Given the description of an element on the screen output the (x, y) to click on. 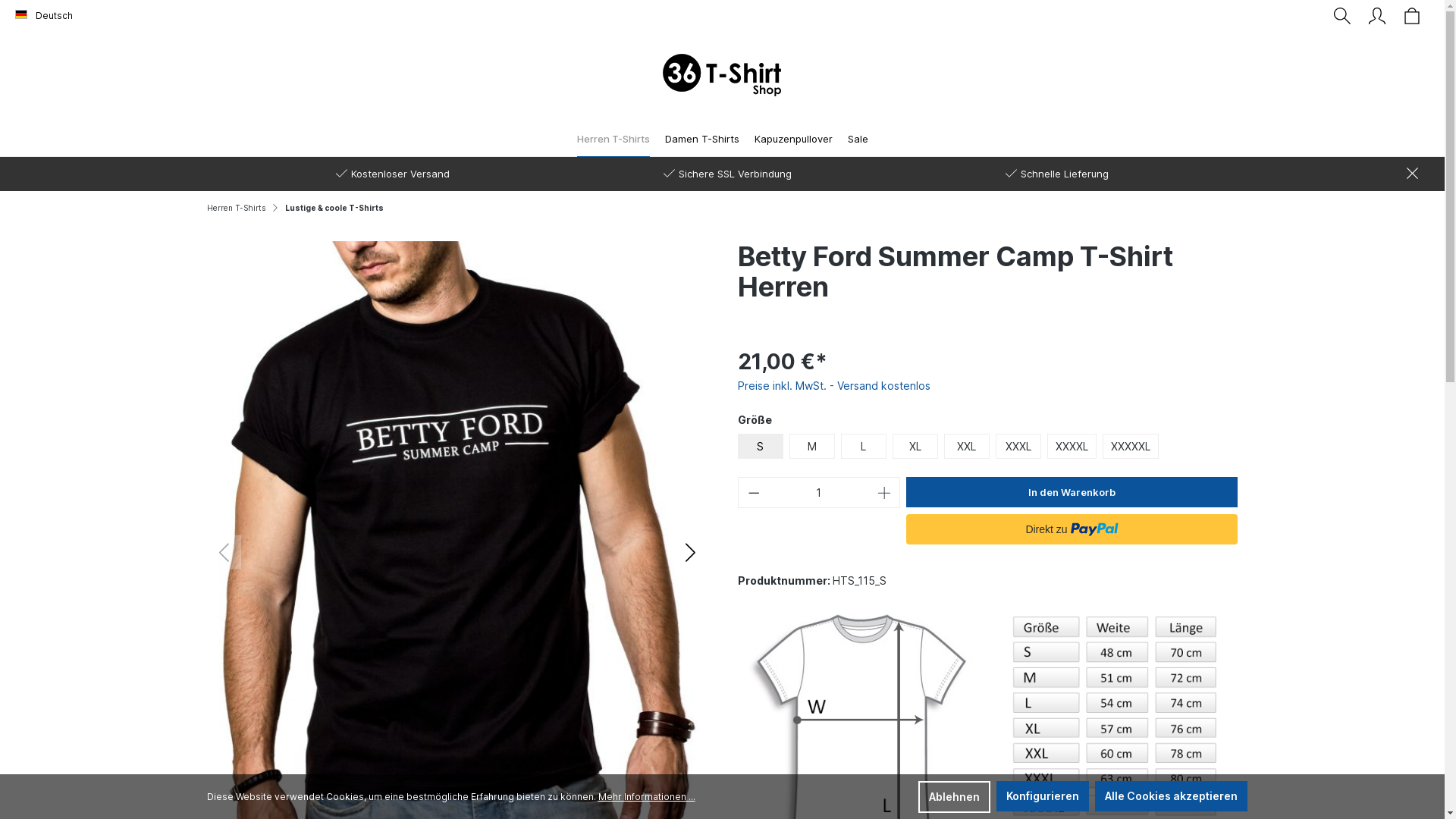
Warenkorb Element type: hover (1411, 15)
In den Warenkorb Element type: text (1071, 491)
Sale Element type: text (857, 139)
Herren T-Shirts Element type: text (612, 139)
Deutsch Element type: text (43, 15)
Herren T-Shirts Element type: text (235, 207)
Alle Cookies akzeptieren Element type: text (1171, 796)
Mehr Informationen ... Element type: text (645, 796)
Ablehnen Element type: text (953, 796)
Betty Ford Summer Camp T-Shirt Herren Element type: hover (456, 550)
Kapuzenpullover Element type: text (792, 139)
PayPal Element type: hover (1071, 529)
Preise inkl. MwSt. - Versand kostenlos Element type: text (833, 385)
Damen T-Shirts Element type: text (701, 139)
Konfigurieren Element type: text (1042, 796)
Zur Startseite gehen Element type: hover (721, 74)
Ihr Konto Element type: hover (1376, 15)
Lustige & coole T-Shirts Element type: text (334, 207)
